Given the description of an element on the screen output the (x, y) to click on. 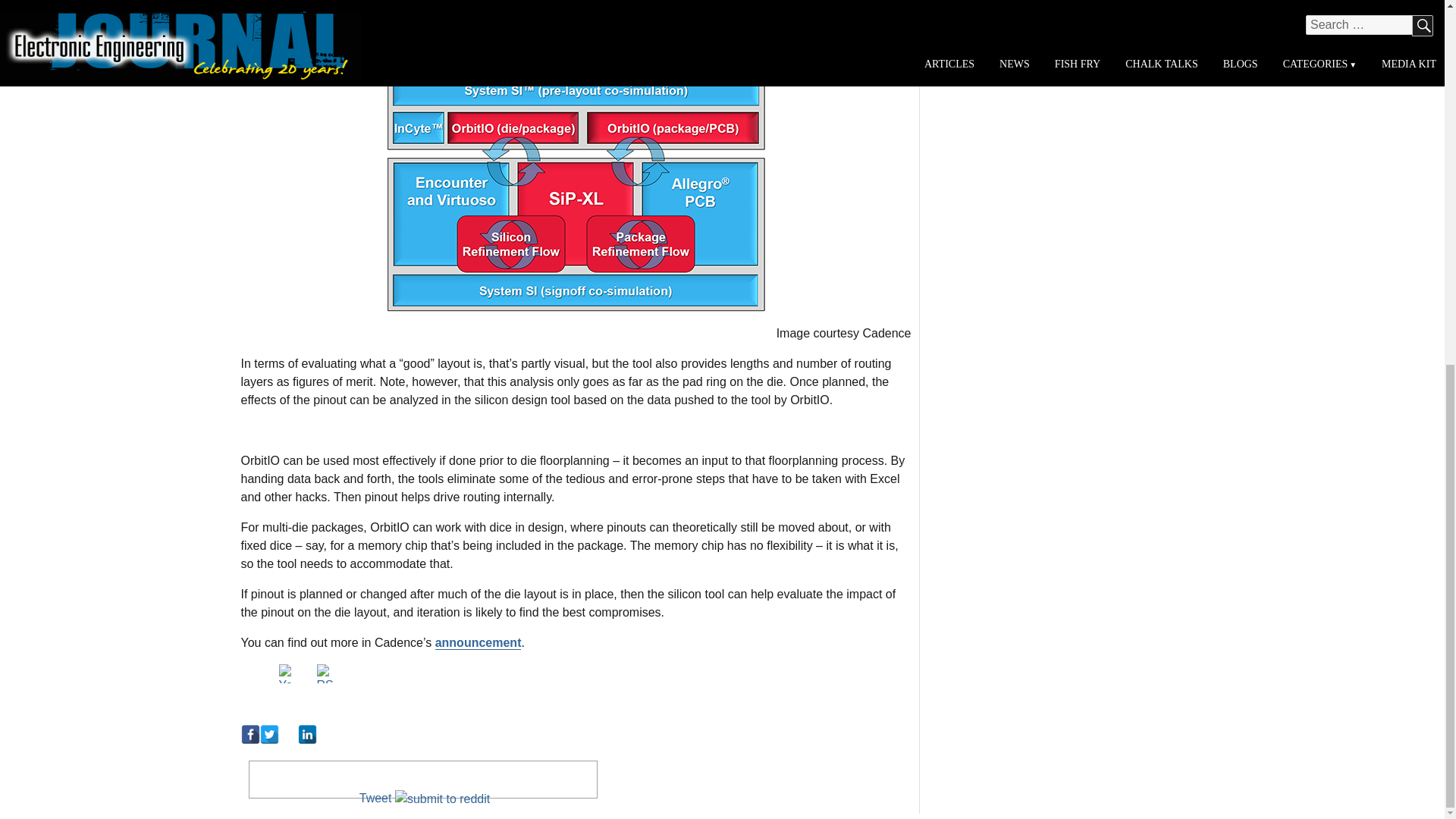
LinkedIn (306, 733)
Twitter (268, 733)
Tweet (375, 797)
announcement (478, 642)
YouTube (288, 673)
RSS Feed (326, 673)
Facebook (250, 733)
